Given the description of an element on the screen output the (x, y) to click on. 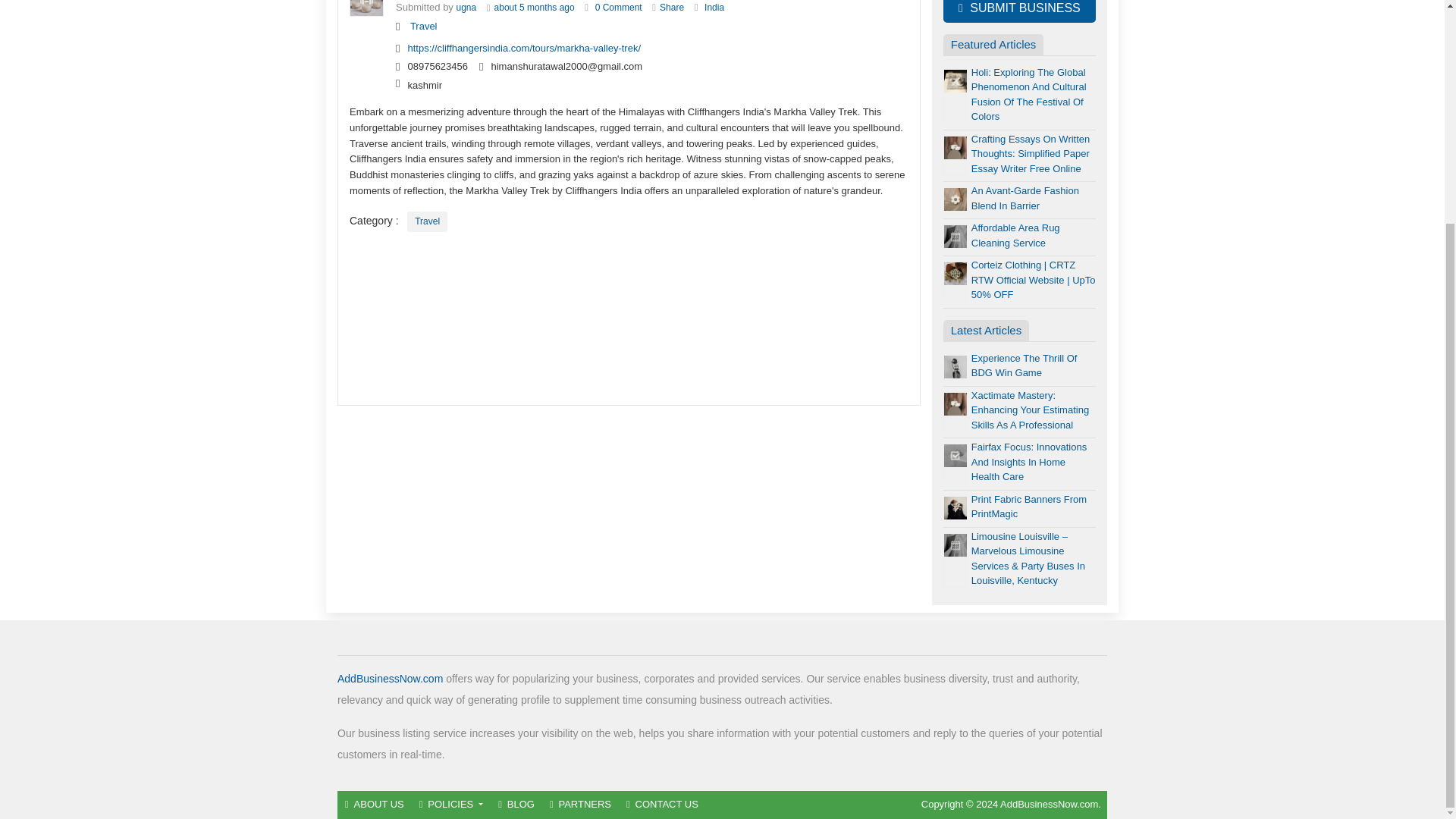
Travel (424, 25)
Share (671, 7)
about 5 months ago (535, 7)
SUBMIT BUSINESS (1019, 11)
Travel (426, 221)
himanshu ratawal (467, 7)
Travel (426, 221)
0 Comment (618, 7)
ugna (467, 7)
Travel (424, 25)
India (713, 7)
India (713, 7)
about 5 months ago (535, 7)
Share (671, 7)
